Given the description of an element on the screen output the (x, y) to click on. 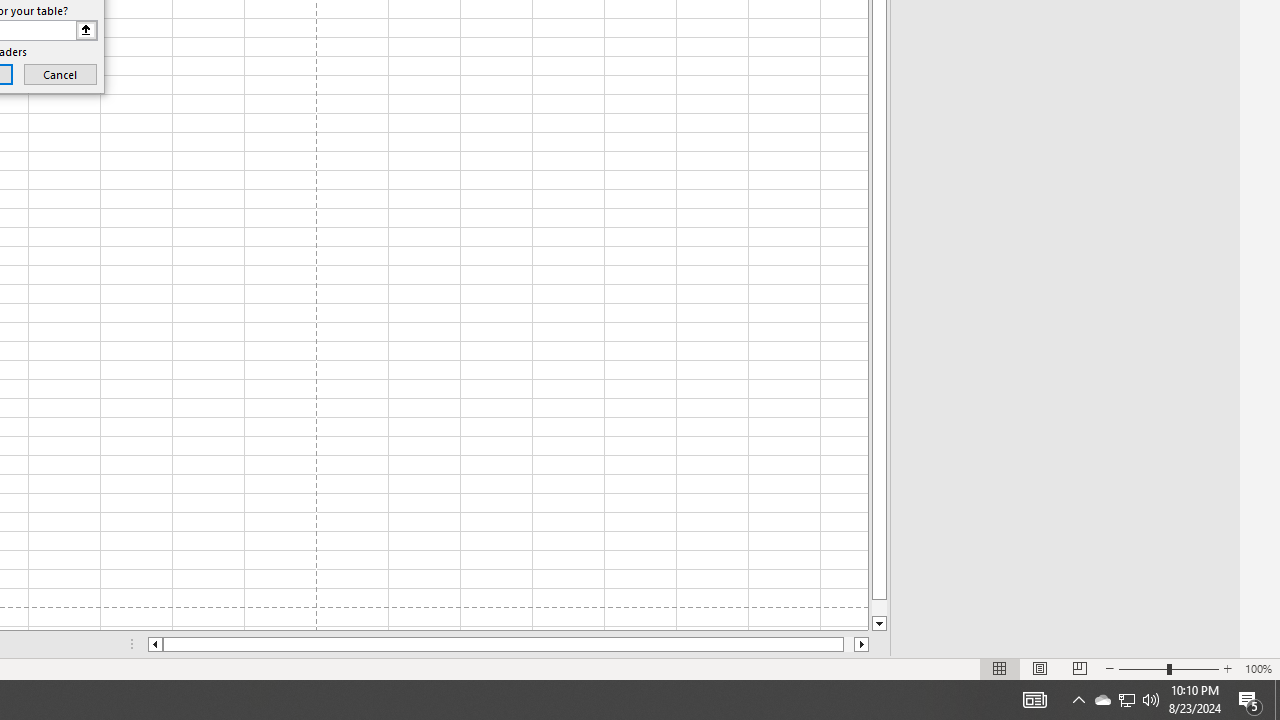
Zoom Out (1142, 668)
Normal (1000, 668)
Zoom In (1227, 668)
Page Break Preview (1079, 668)
Line down (879, 624)
Page Layout (1039, 668)
Page right (848, 644)
Page down (879, 607)
Class: NetUIScrollBar (507, 644)
Column left (153, 644)
Zoom (1168, 668)
Column right (861, 644)
